Given the description of an element on the screen output the (x, y) to click on. 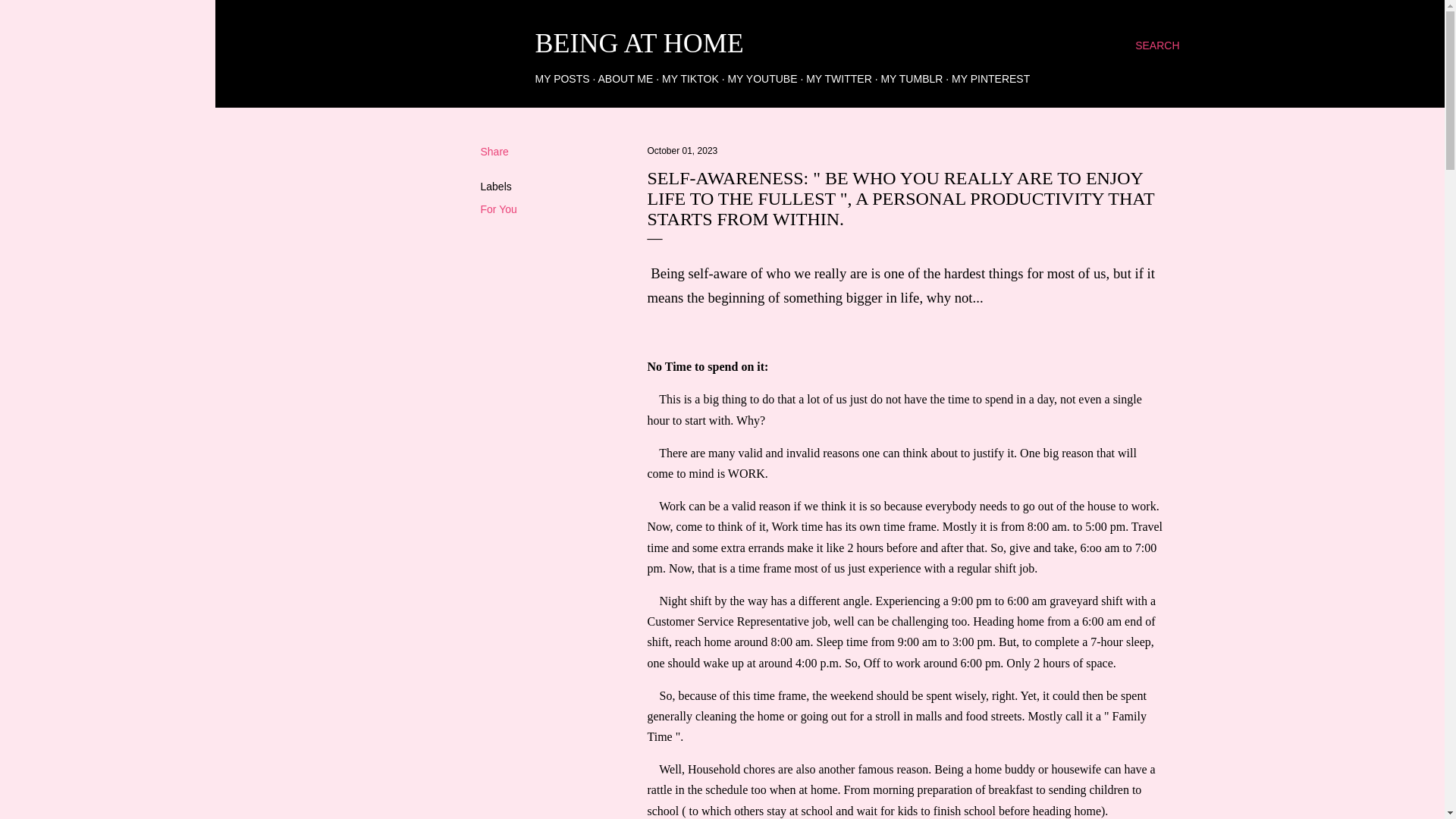
MY POSTS (562, 78)
MY TWITTER (839, 78)
MY TUMBLR (911, 78)
MY TIKTOK (690, 78)
permanent link (682, 150)
For You (498, 209)
MY YOUTUBE (761, 78)
October 01, 2023 (682, 150)
MY PINTEREST (990, 78)
Share (494, 151)
